Given the description of an element on the screen output the (x, y) to click on. 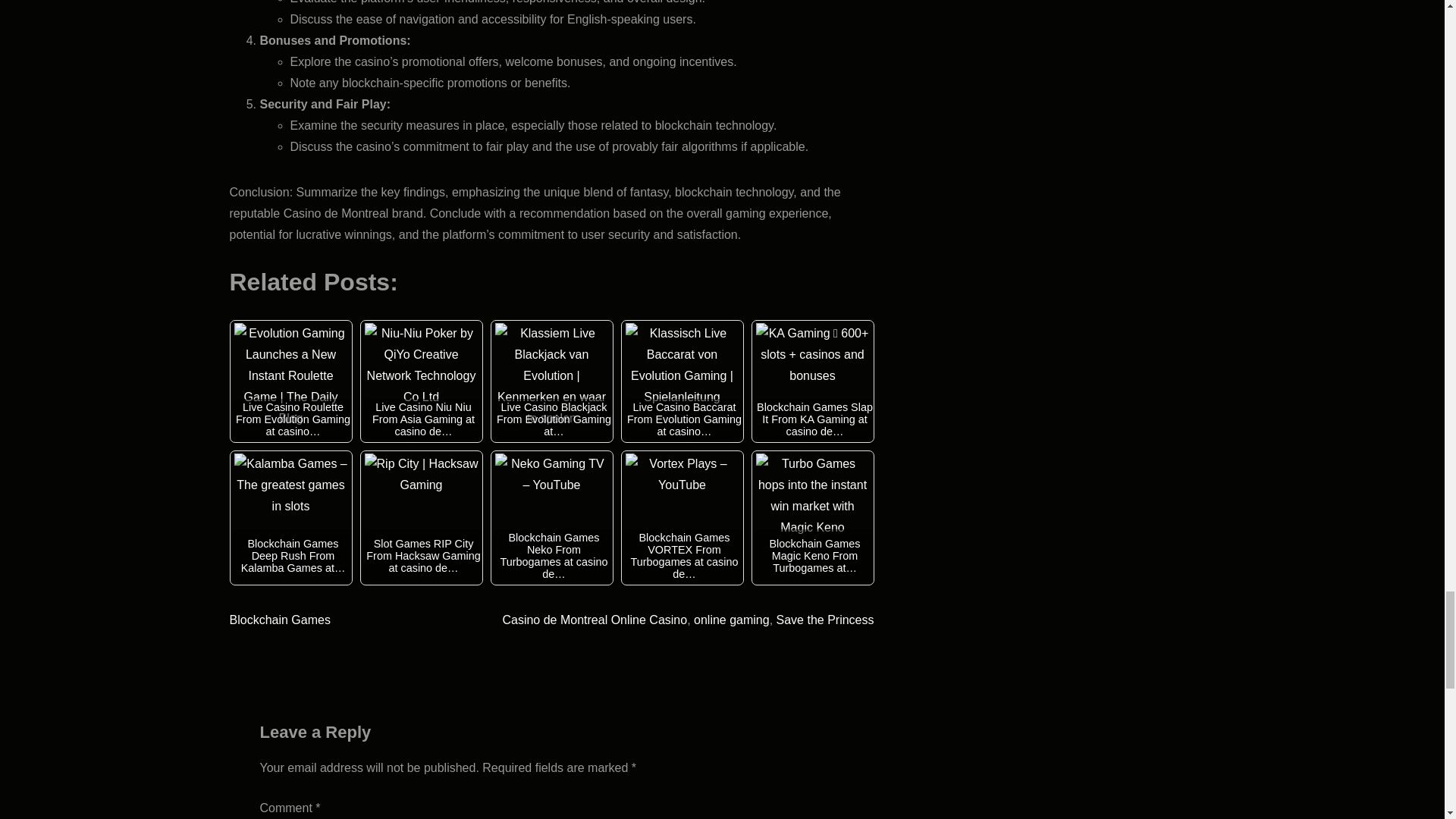
Casino de Montreal Online Casino (594, 619)
Blockchain Games (279, 619)
Save the Princess (825, 619)
